Given the description of an element on the screen output the (x, y) to click on. 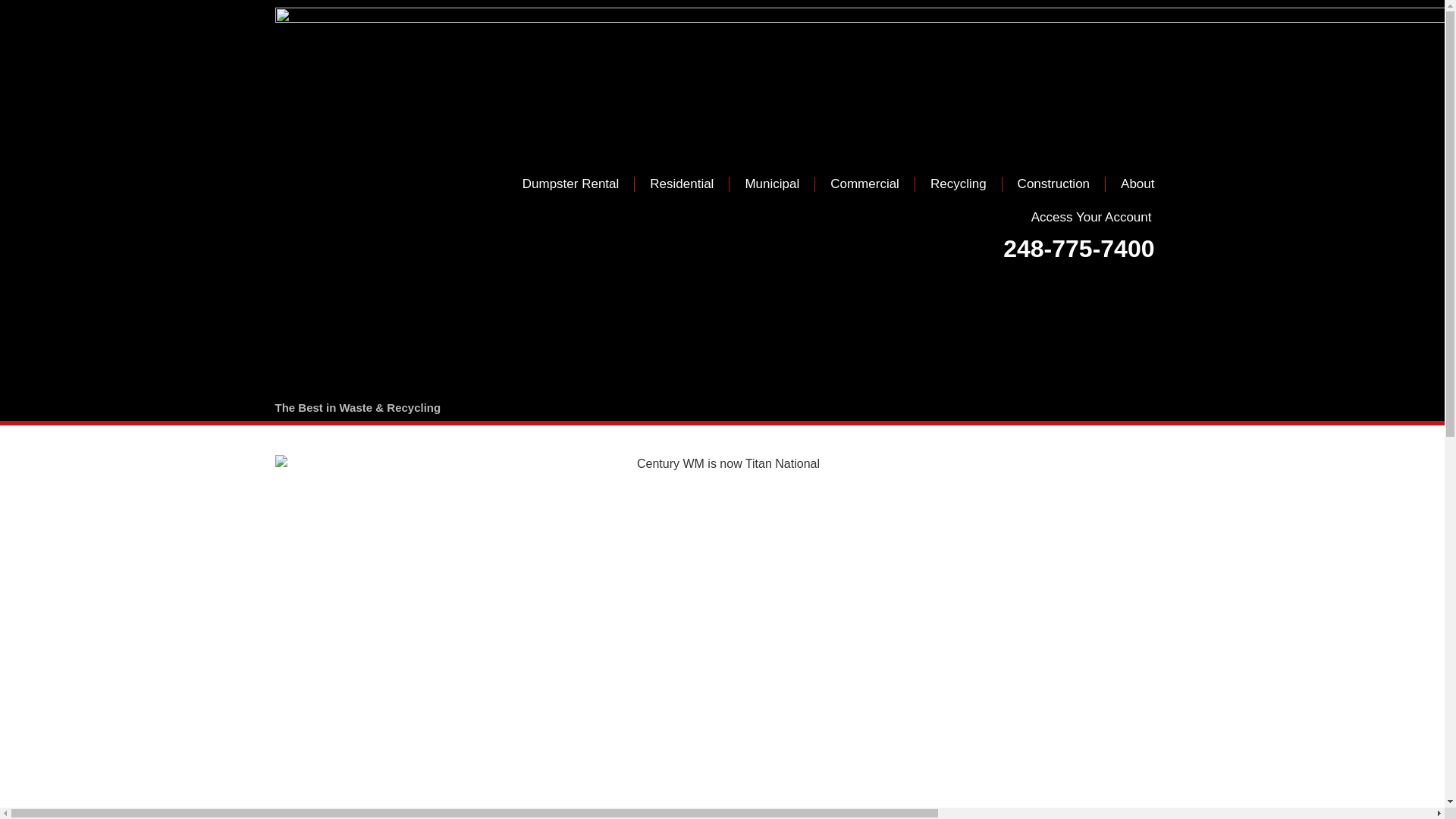
Construction (1054, 184)
Residential (681, 184)
Recycling (958, 184)
Dumpster Rental (570, 184)
Municipal (771, 184)
About (1137, 184)
Commercial (864, 184)
248-775-7400 (1078, 248)
Access Your Account (1091, 216)
